Given the description of an element on the screen output the (x, y) to click on. 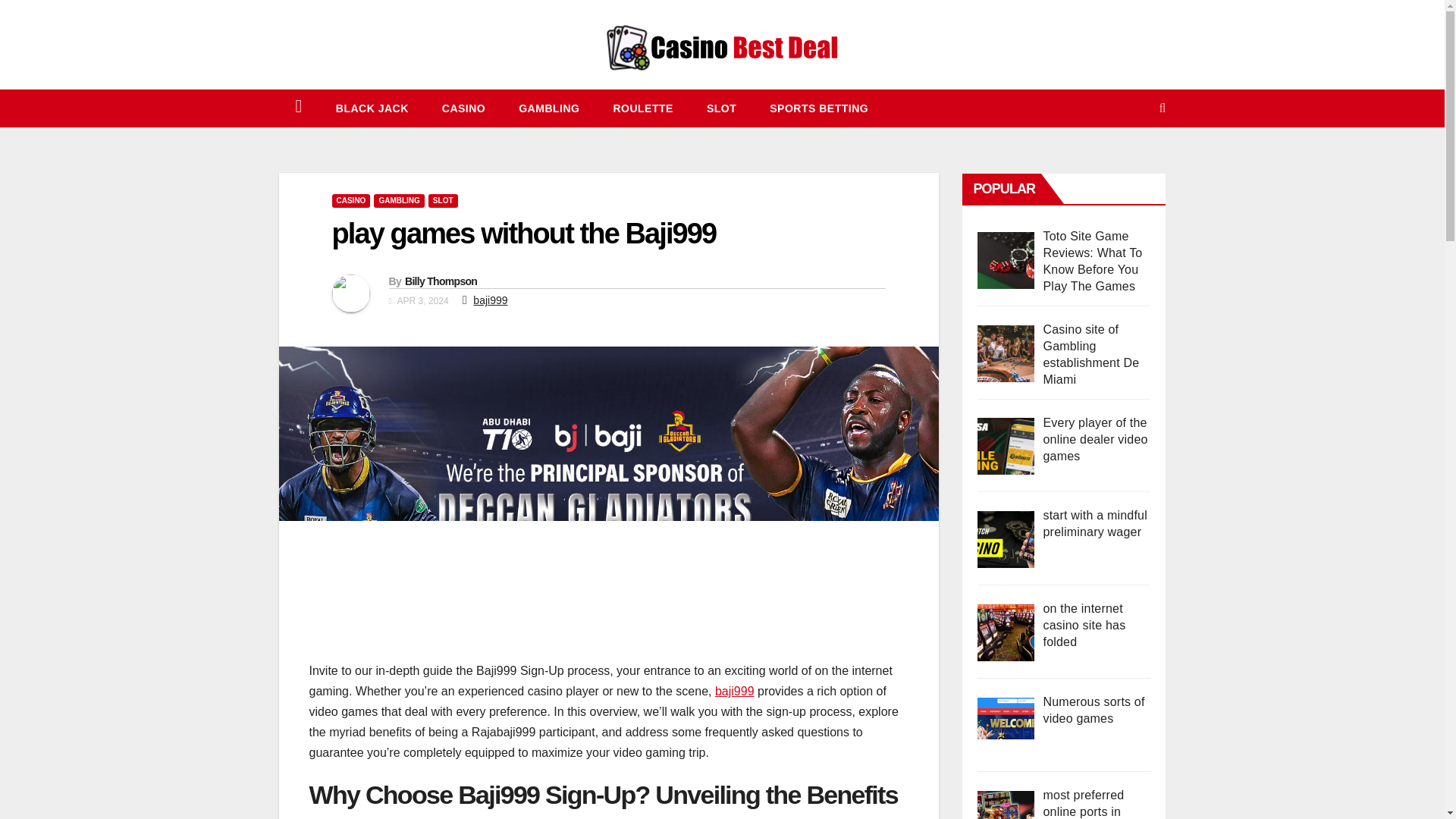
BLACK JACK (371, 108)
Gambling (548, 108)
Roulette (641, 108)
Permalink to: play games without the Baji999 (523, 233)
SLOT (443, 201)
baji999 (489, 300)
Sports Betting (818, 108)
SPORTS BETTING (818, 108)
Slot (721, 108)
CASINO (463, 108)
Casino (463, 108)
GAMBLING (398, 201)
play games without the Baji999 (523, 233)
Billy Thompson (440, 281)
Black Jack (371, 108)
